Given the description of an element on the screen output the (x, y) to click on. 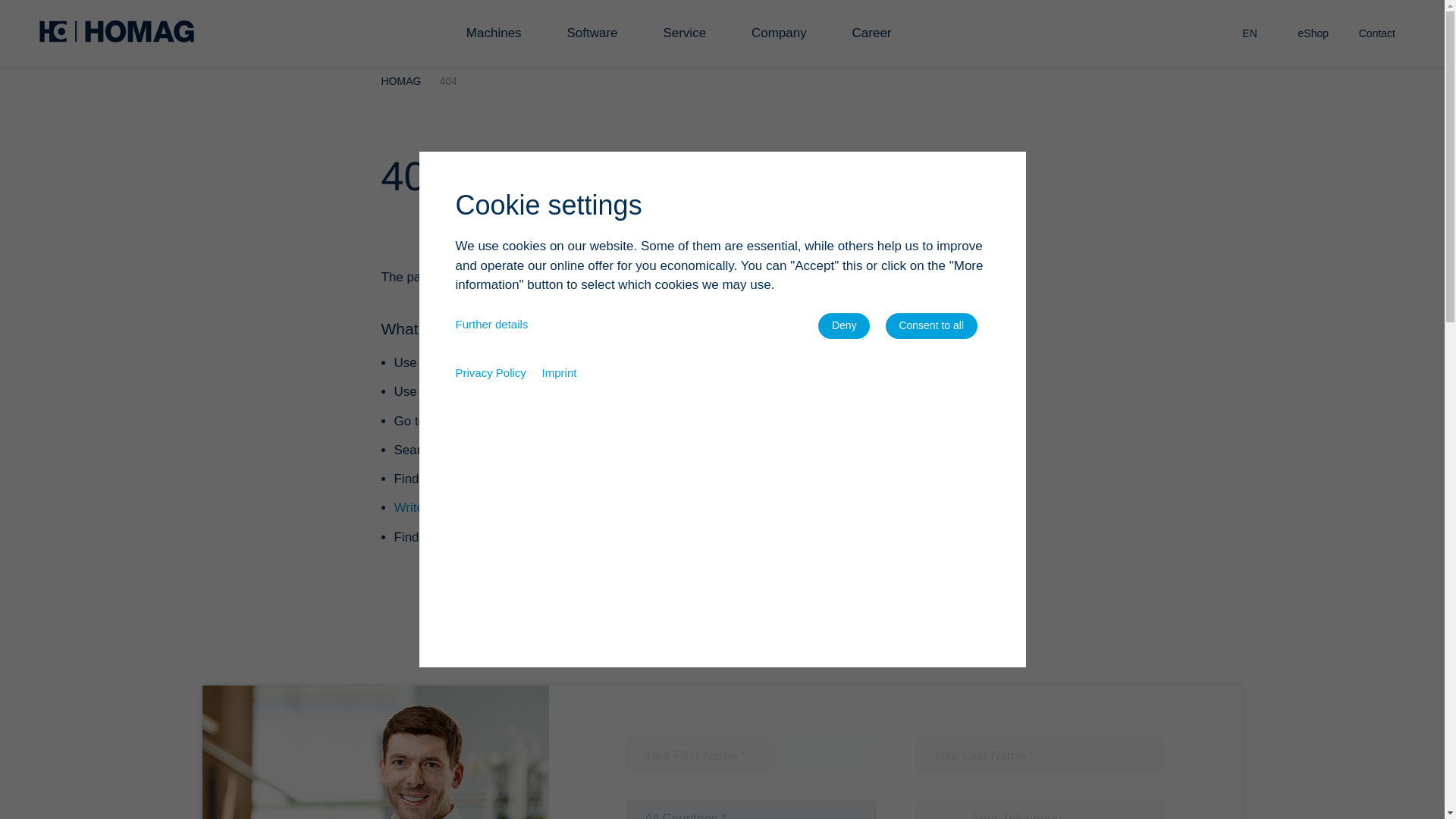
Software (598, 33)
Machines (499, 33)
